Given the description of an element on the screen output the (x, y) to click on. 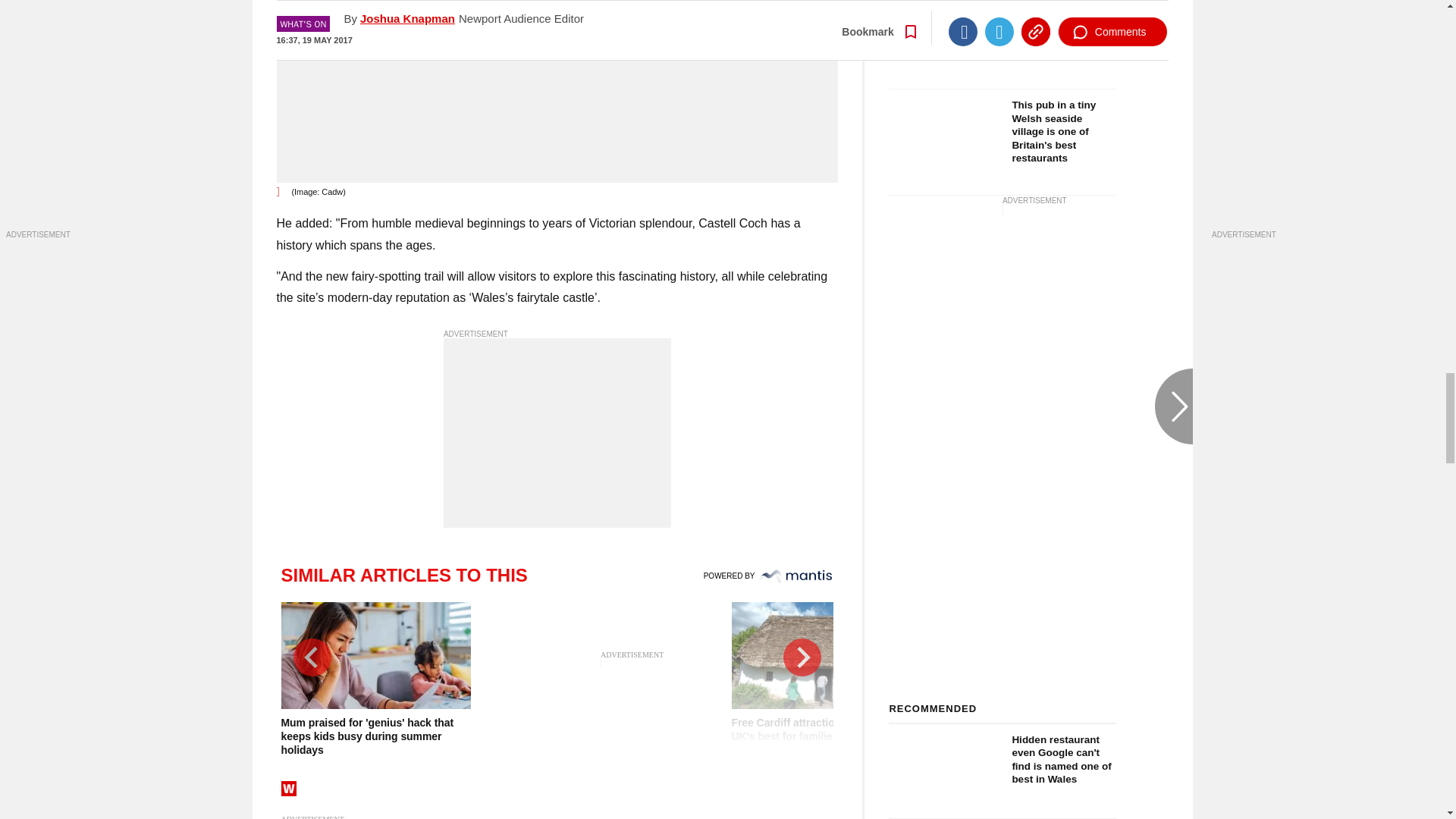
3rd party ad content (557, 432)
